Given the description of an element on the screen output the (x, y) to click on. 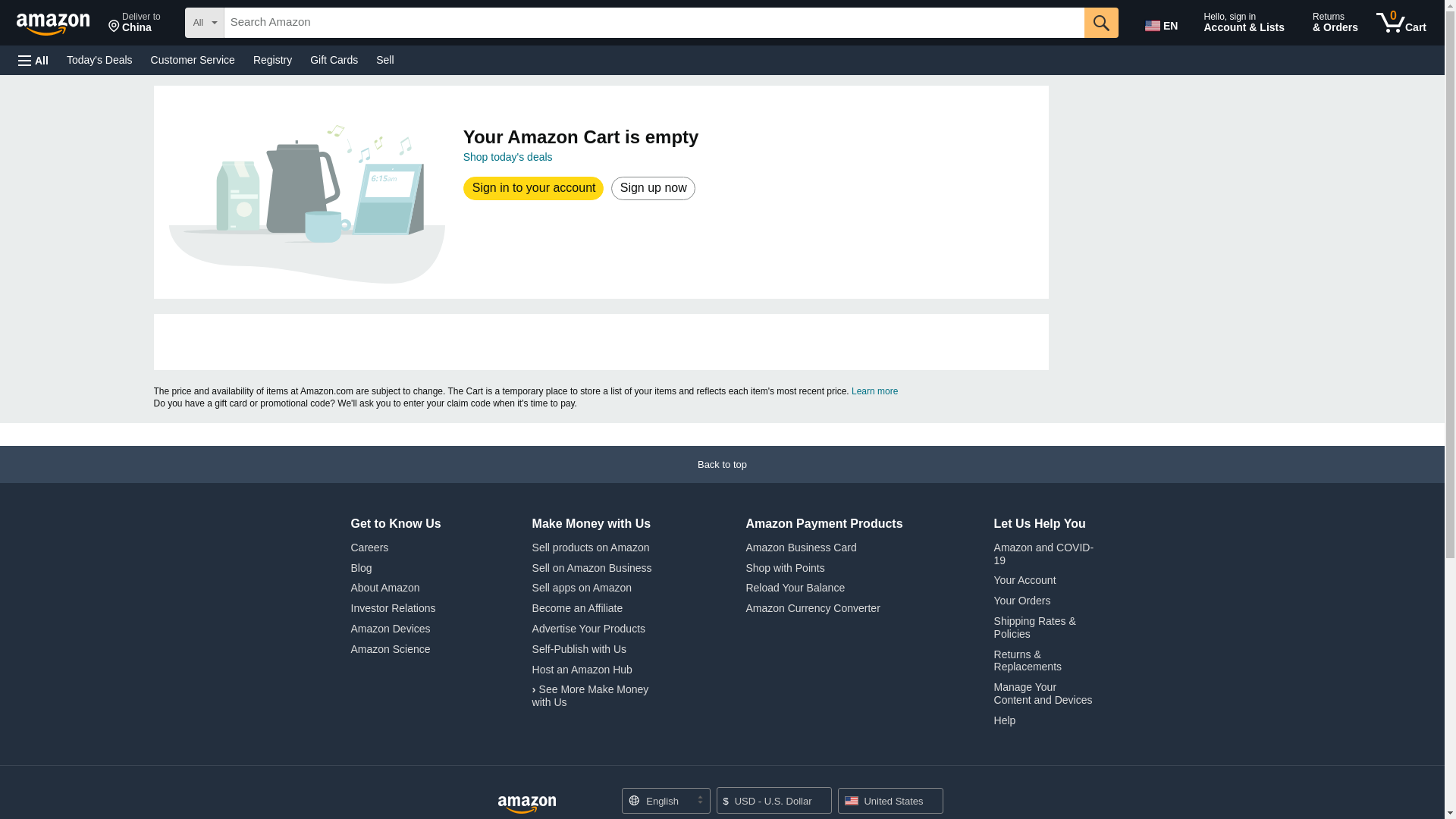
Sell apps on Amazon (581, 587)
Sign up now (652, 188)
Self-Publish with Us (579, 648)
Learn more (874, 390)
Investor Relations (392, 607)
See More Make Money with Us (590, 695)
Host an Amazon Hub (581, 669)
EN (1163, 22)
All (33, 60)
